Given the description of an element on the screen output the (x, y) to click on. 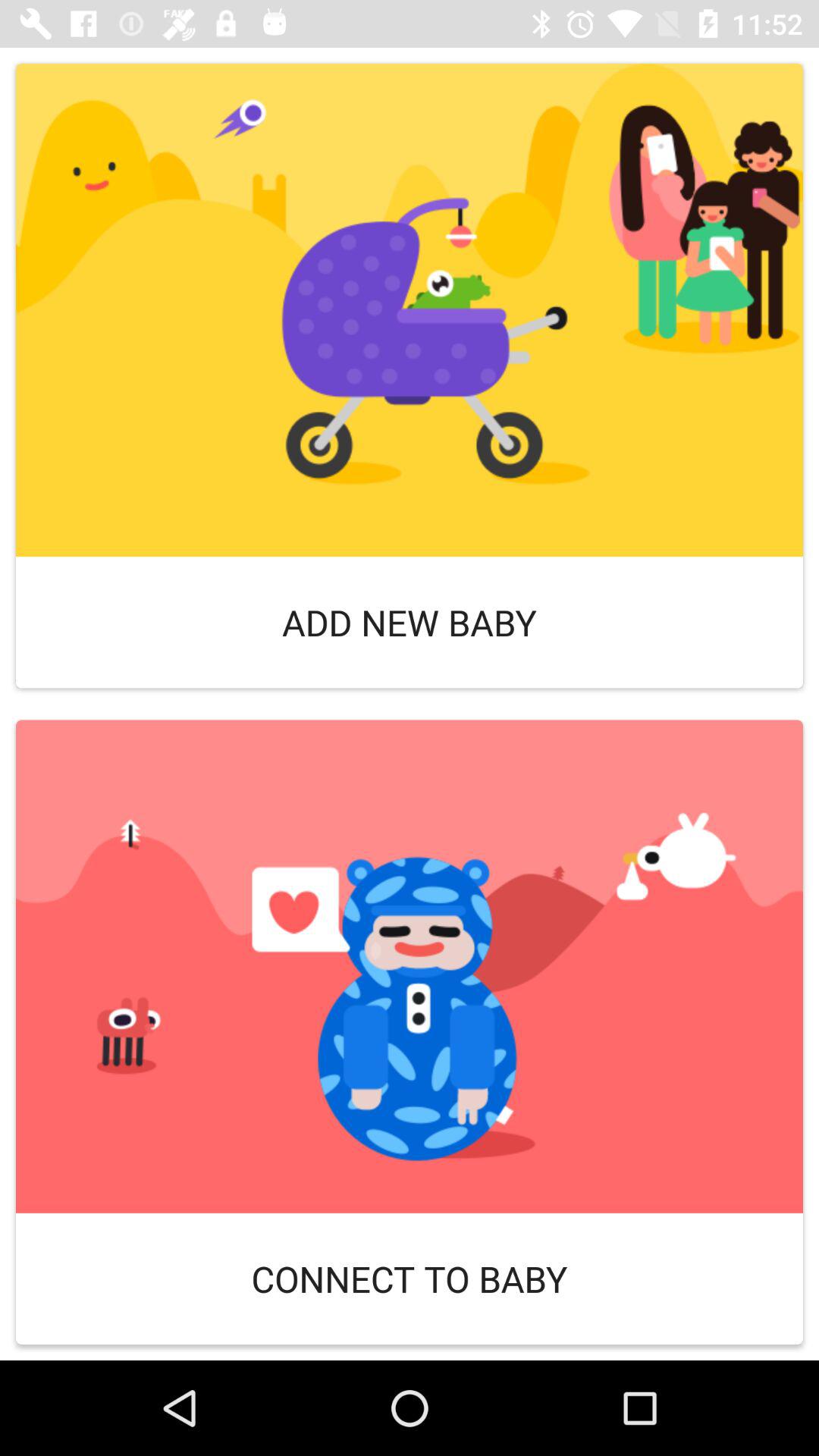
turn on add new baby icon (409, 622)
